Given the description of an element on the screen output the (x, y) to click on. 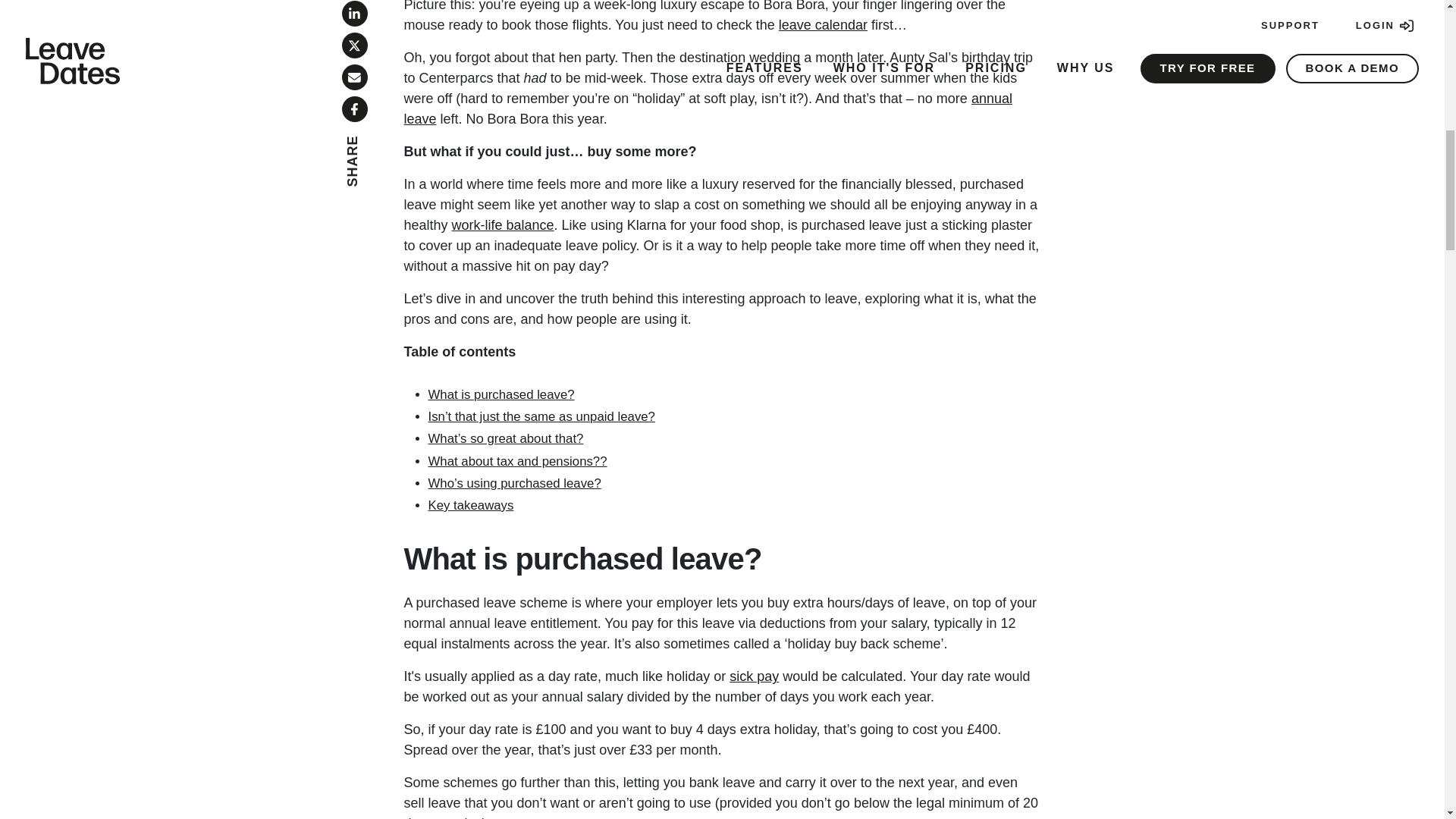
annual leave (707, 108)
Key takeaways (470, 504)
leave calendar (822, 24)
X (353, 45)
sick pay (753, 676)
Facebook (353, 109)
What about tax and pensions?? (517, 461)
What is purchased leave? (500, 394)
work-life balance (502, 224)
Email (353, 77)
LinkedIn (353, 13)
